Given the description of an element on the screen output the (x, y) to click on. 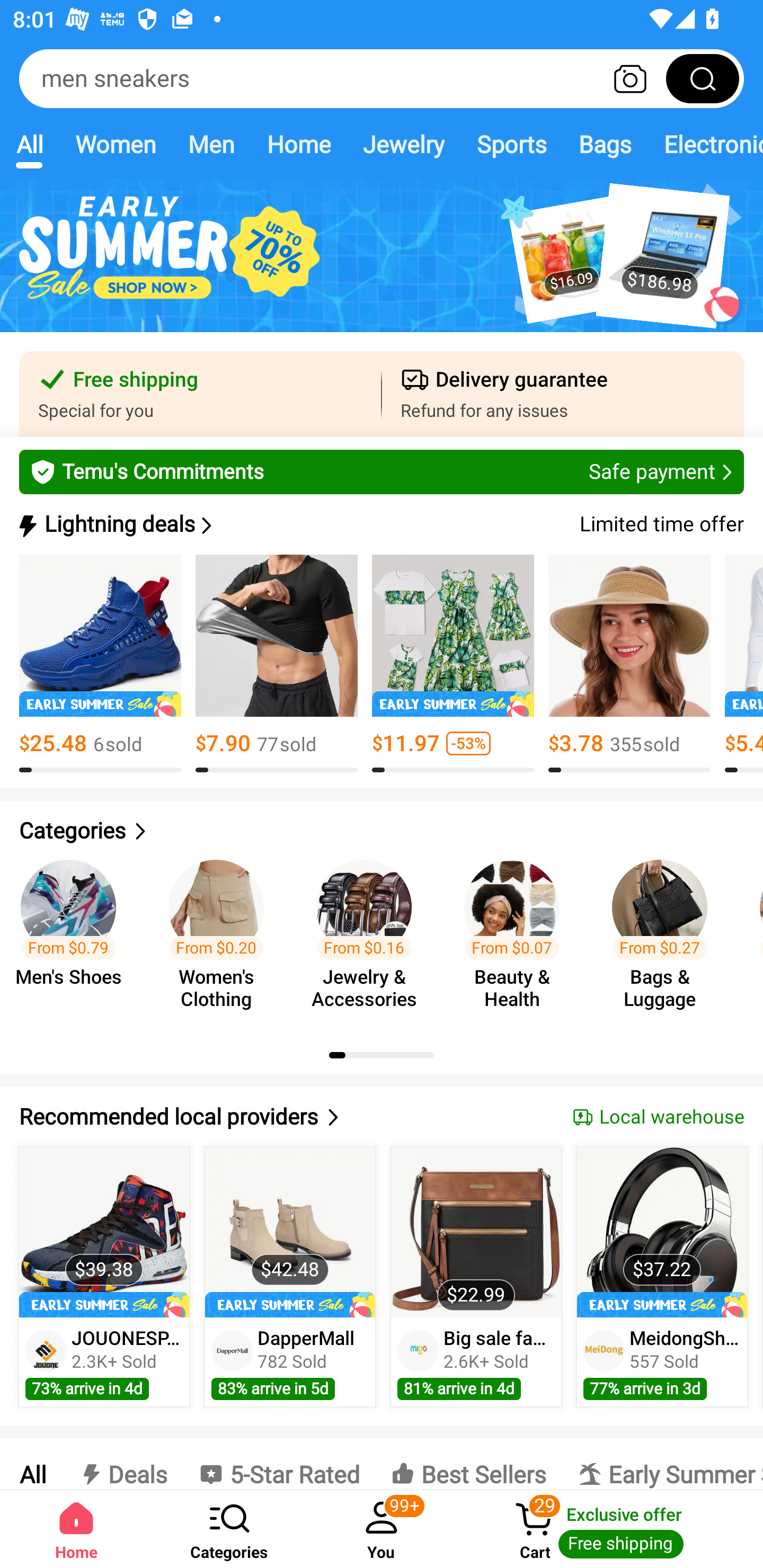
men sneakers (381, 78)
All (29, 144)
Women (115, 144)
Men (211, 144)
Home (298, 144)
Jewelry (403, 144)
Sports (511, 144)
Bags (605, 144)
Electronics (705, 144)
$16.09 $186.98 (381, 265)
Free shipping Special for you (200, 394)
Delivery guarantee Refund for any issues (562, 394)
Temu's Commitments (381, 471)
Lightning deals Lightning deals Limited time offer (379, 524)
$25.48 6￼sold 8.0 (100, 664)
$7.90 77￼sold 8.0 (276, 664)
$11.97 -53% 8.0 (453, 664)
$3.78 355￼sold 8.0 (629, 664)
